Given the description of an element on the screen output the (x, y) to click on. 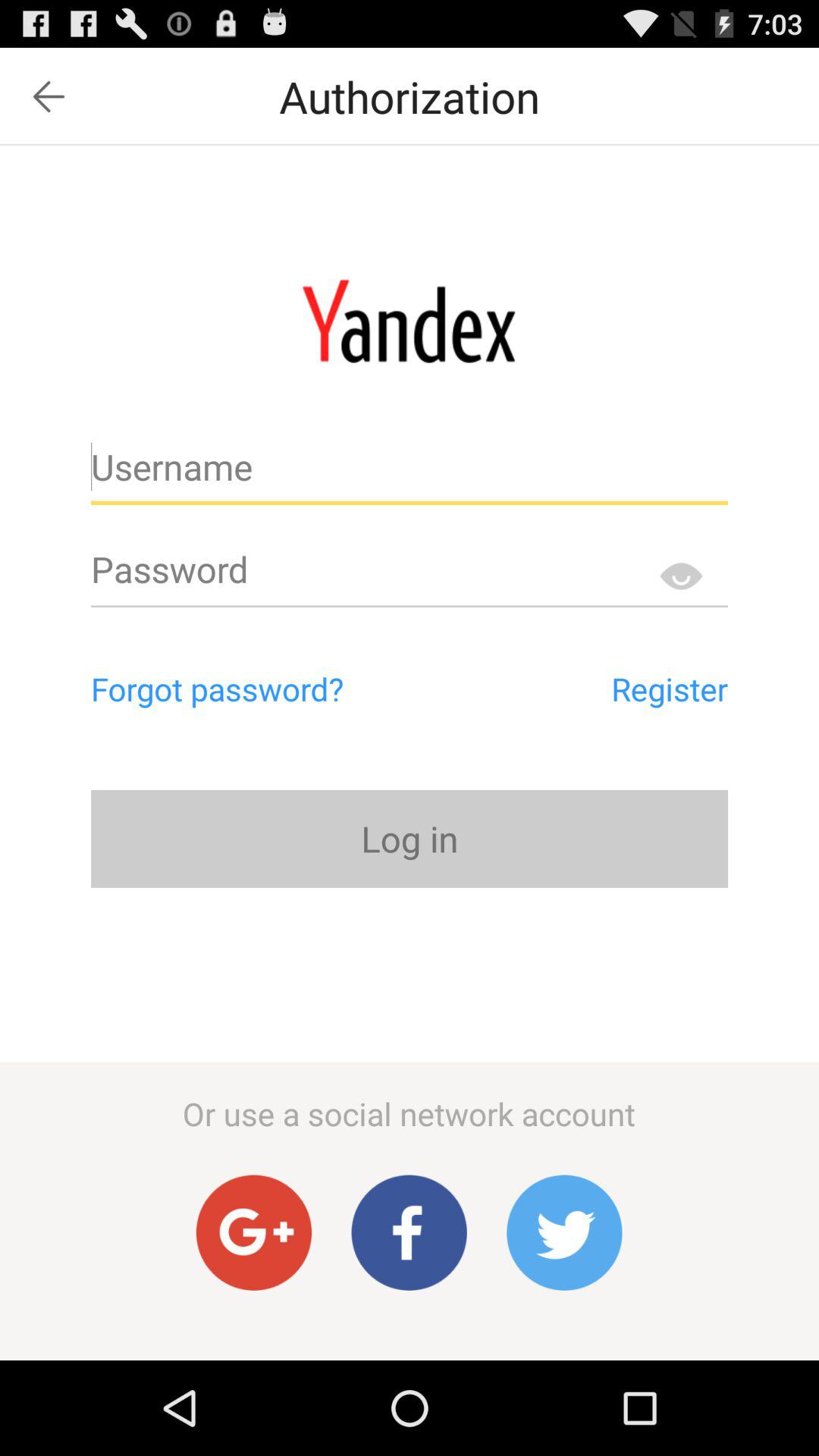
mail logo (408, 320)
